Given the description of an element on the screen output the (x, y) to click on. 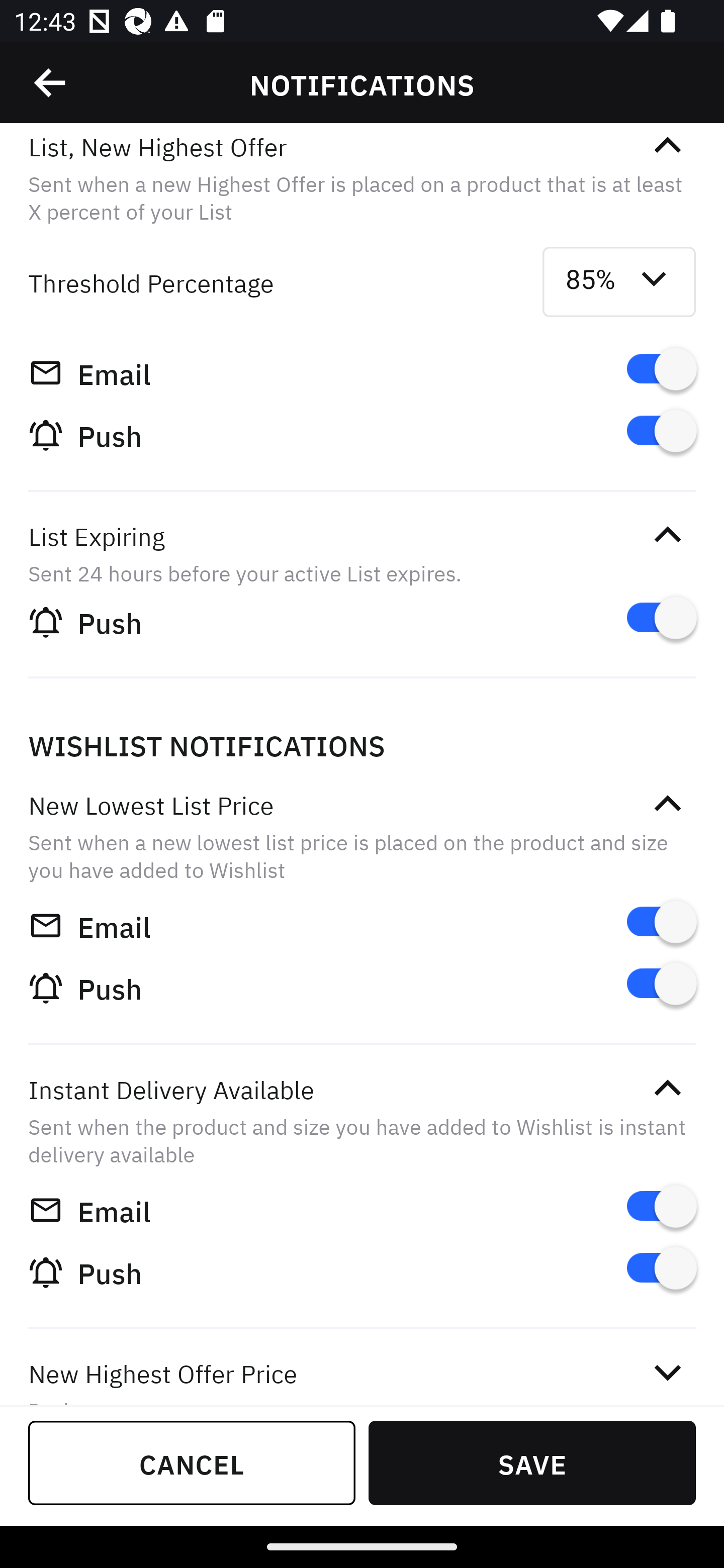
 (50, 83)
 (667, 145)
85%  (619, 282)
 (667, 535)
 (667, 803)
 (667, 1088)
New Highest Offer Price  Push (361, 1368)
 (667, 1372)
CANCEL (191, 1462)
SAVE (531, 1462)
